Given the description of an element on the screen output the (x, y) to click on. 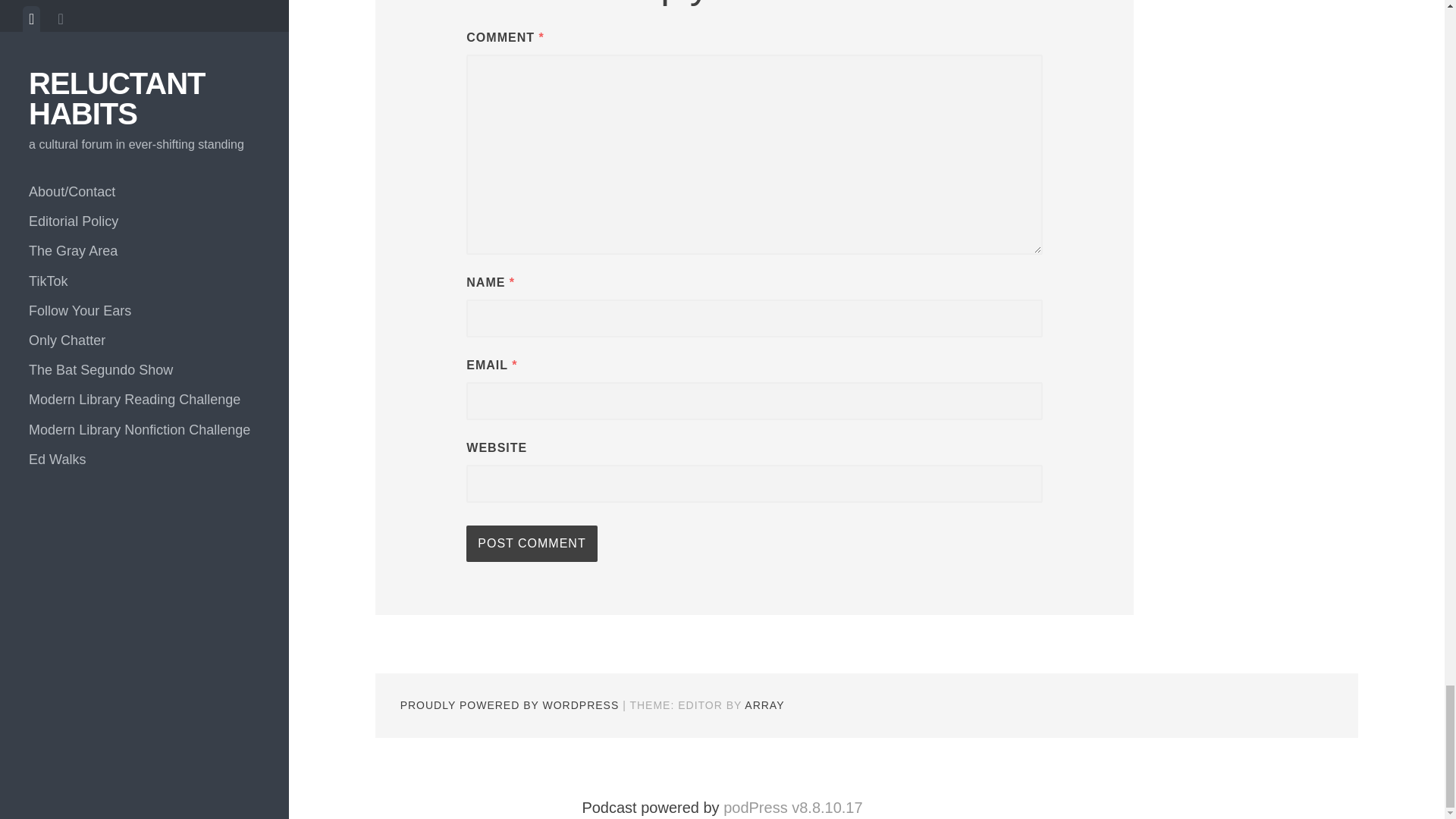
Post Comment (530, 543)
podPress, a plugin for podcasting with WordPress (792, 807)
